Given the description of an element on the screen output the (x, y) to click on. 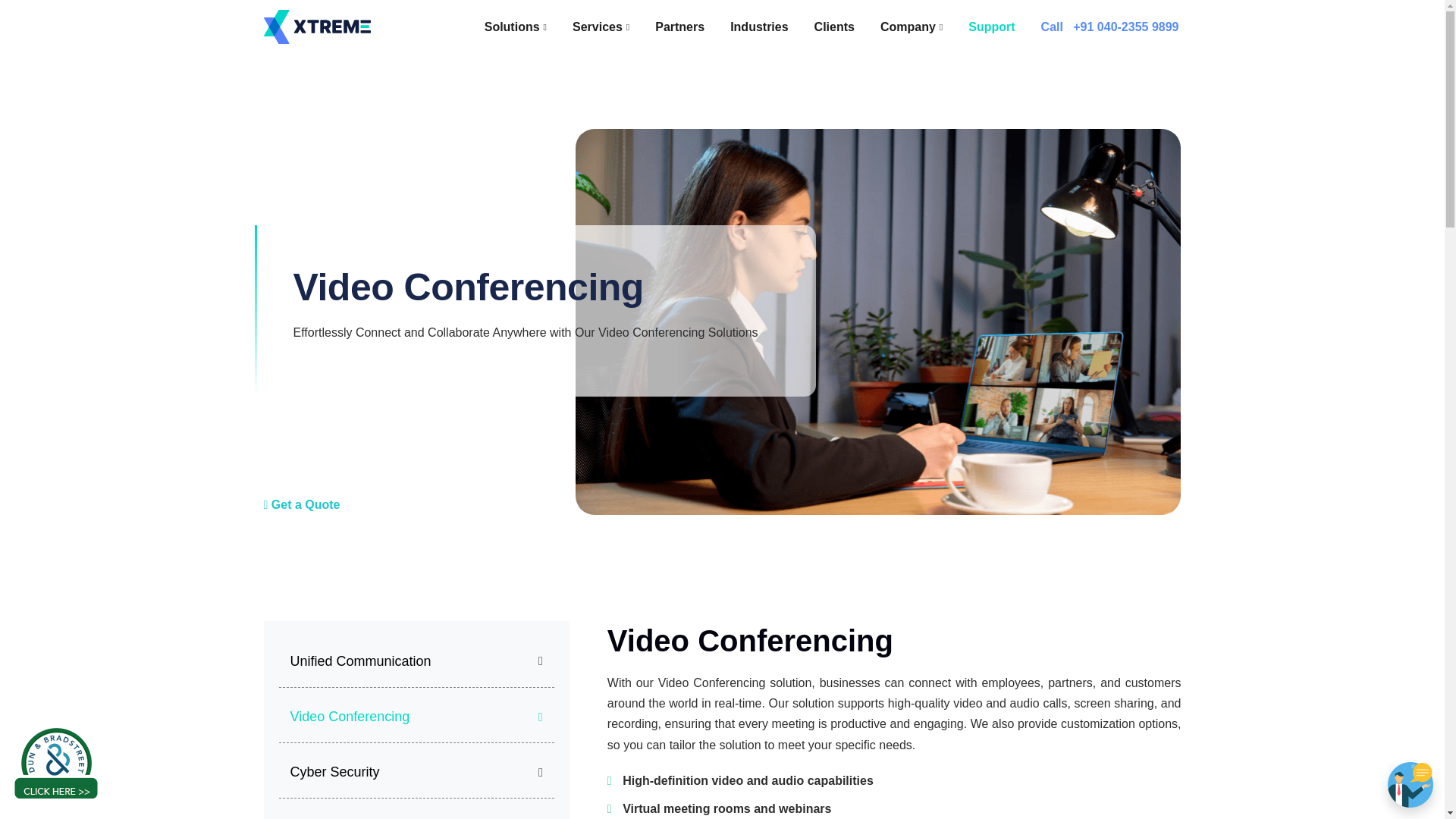
Unified Communication (359, 661)
Clients (834, 26)
Solutions (514, 26)
Industries (759, 26)
Services (600, 26)
Cyber Security (333, 772)
Support (991, 26)
Company (910, 26)
Partners (679, 26)
Video Conferencing (349, 716)
